Given the description of an element on the screen output the (x, y) to click on. 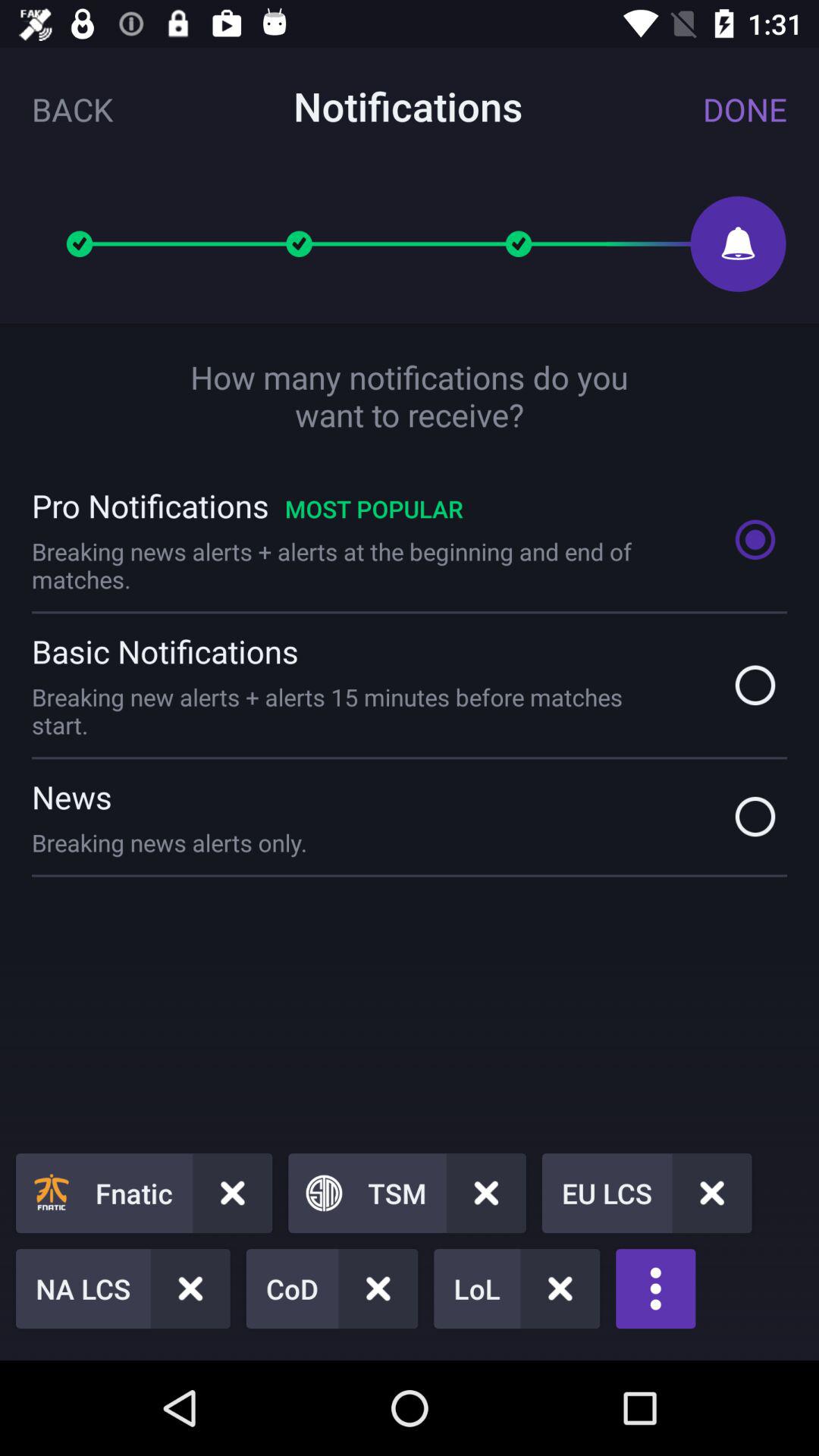
click the icon next to notifications (745, 108)
